Given the description of an element on the screen output the (x, y) to click on. 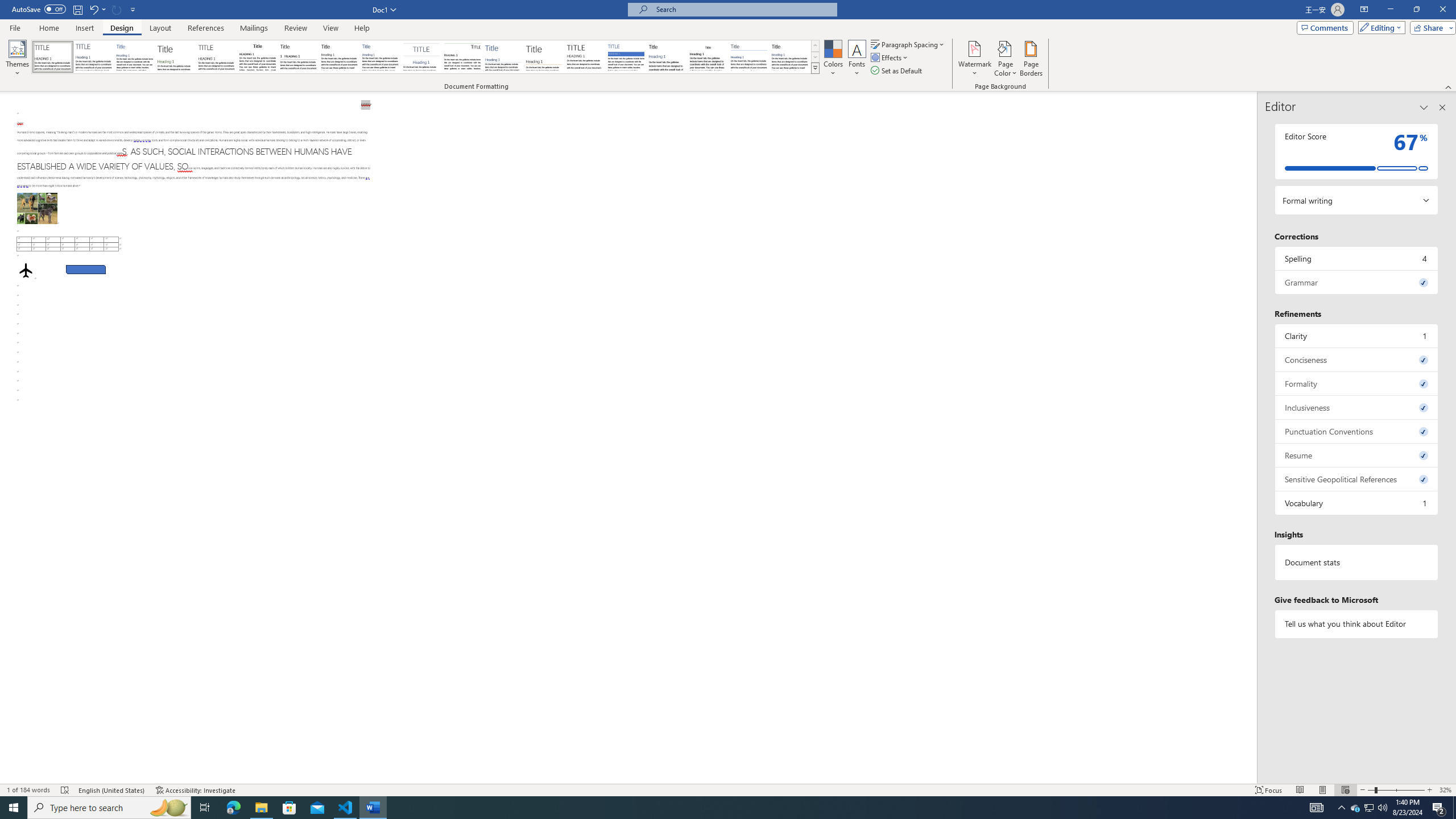
Resume, 0 issues. Press space or enter to review items. (1356, 454)
Watermark (974, 58)
Basic (Stylish) (175, 56)
Class: NetUIScrollBar (1251, 437)
Tell us what you think about Editor (1356, 624)
Editor Score 67% (1356, 151)
